Given the description of an element on the screen output the (x, y) to click on. 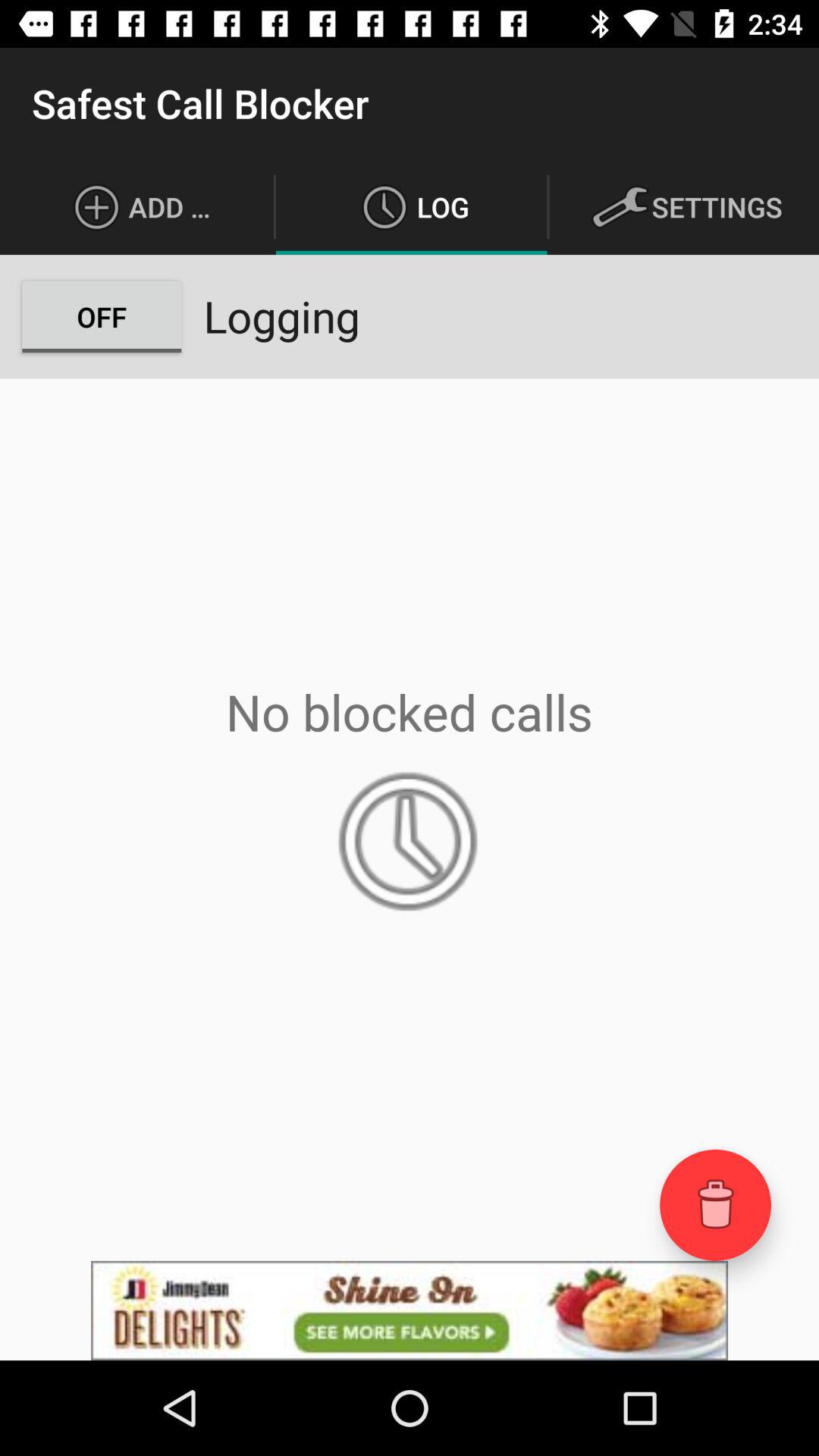
advertisement banner (409, 1310)
